Given the description of an element on the screen output the (x, y) to click on. 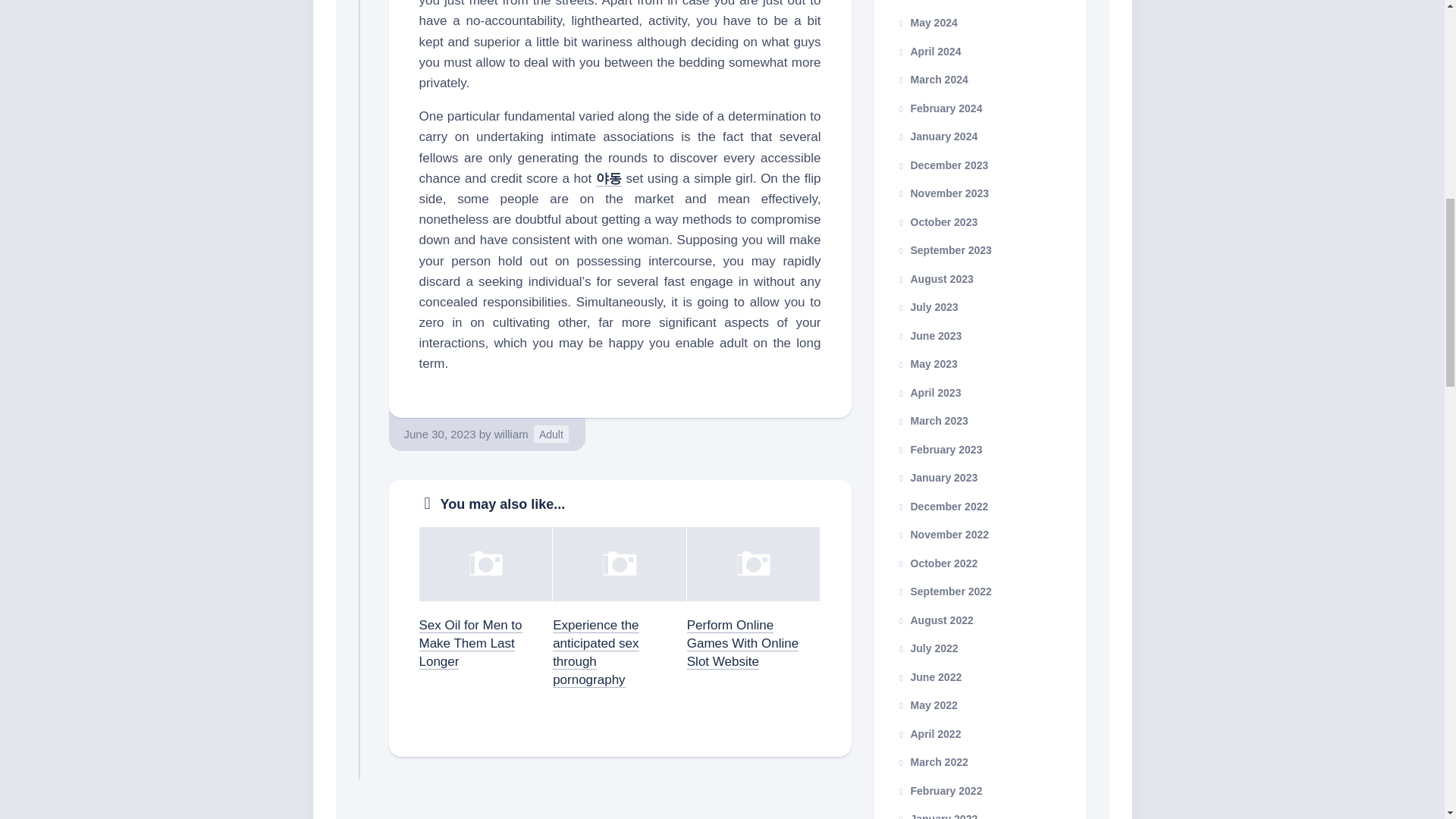
February 2024 (938, 107)
September 2023 (943, 250)
July 2023 (927, 306)
November 2023 (942, 193)
October 2023 (936, 221)
August 2023 (934, 278)
December 2023 (942, 164)
March 2024 (932, 79)
Adult (551, 434)
william (511, 433)
Sex Oil for Men to Make Them Last Longer (470, 643)
Perform Online Games With Online Slot Website (742, 643)
Experience the anticipated sex through pornography (596, 652)
January 2024 (936, 136)
June 2023 (928, 335)
